Given the description of an element on the screen output the (x, y) to click on. 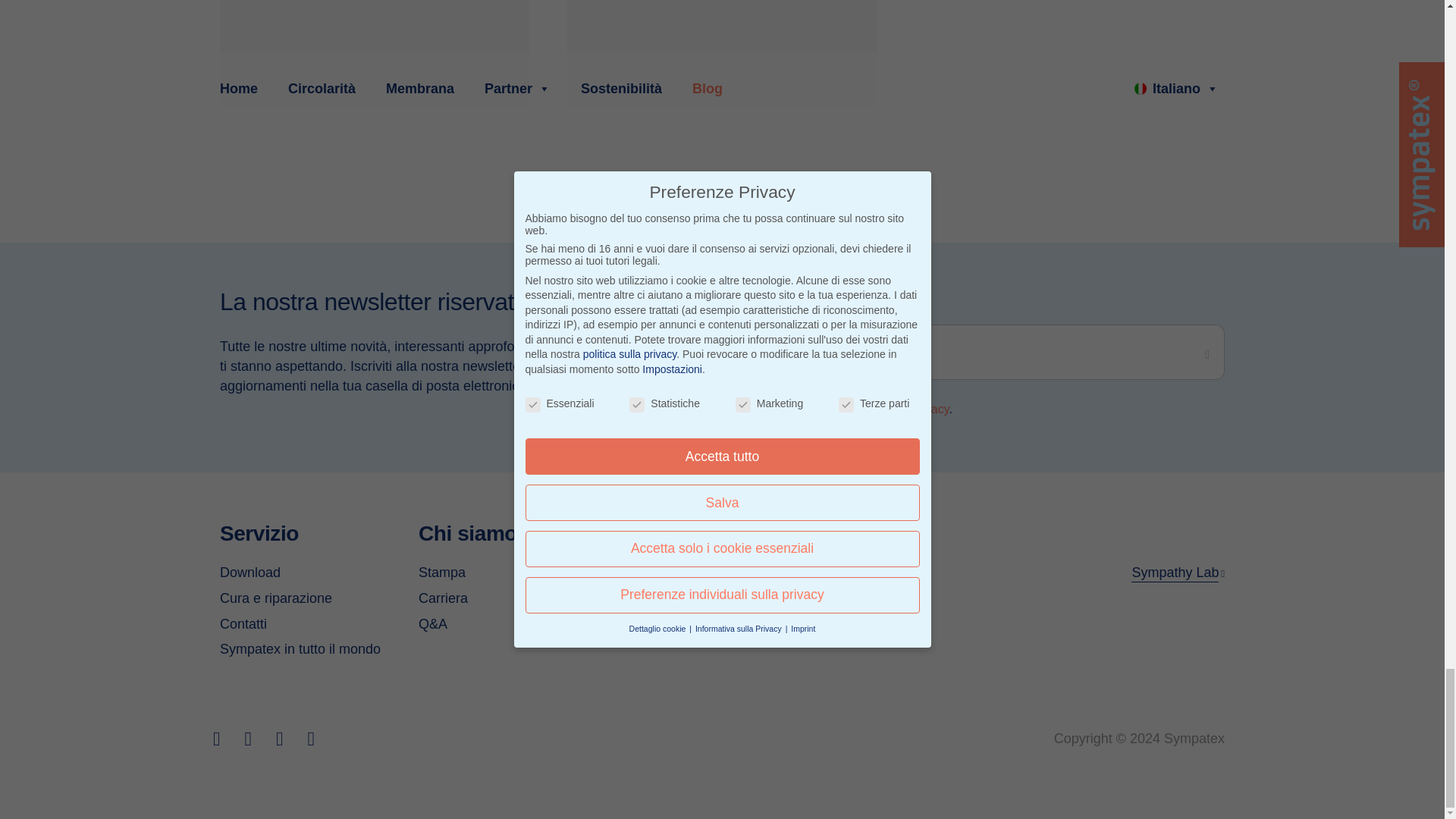
linkedin (279, 739)
youtube (310, 739)
facebook (216, 739)
instagram (247, 739)
